Given the description of an element on the screen output the (x, y) to click on. 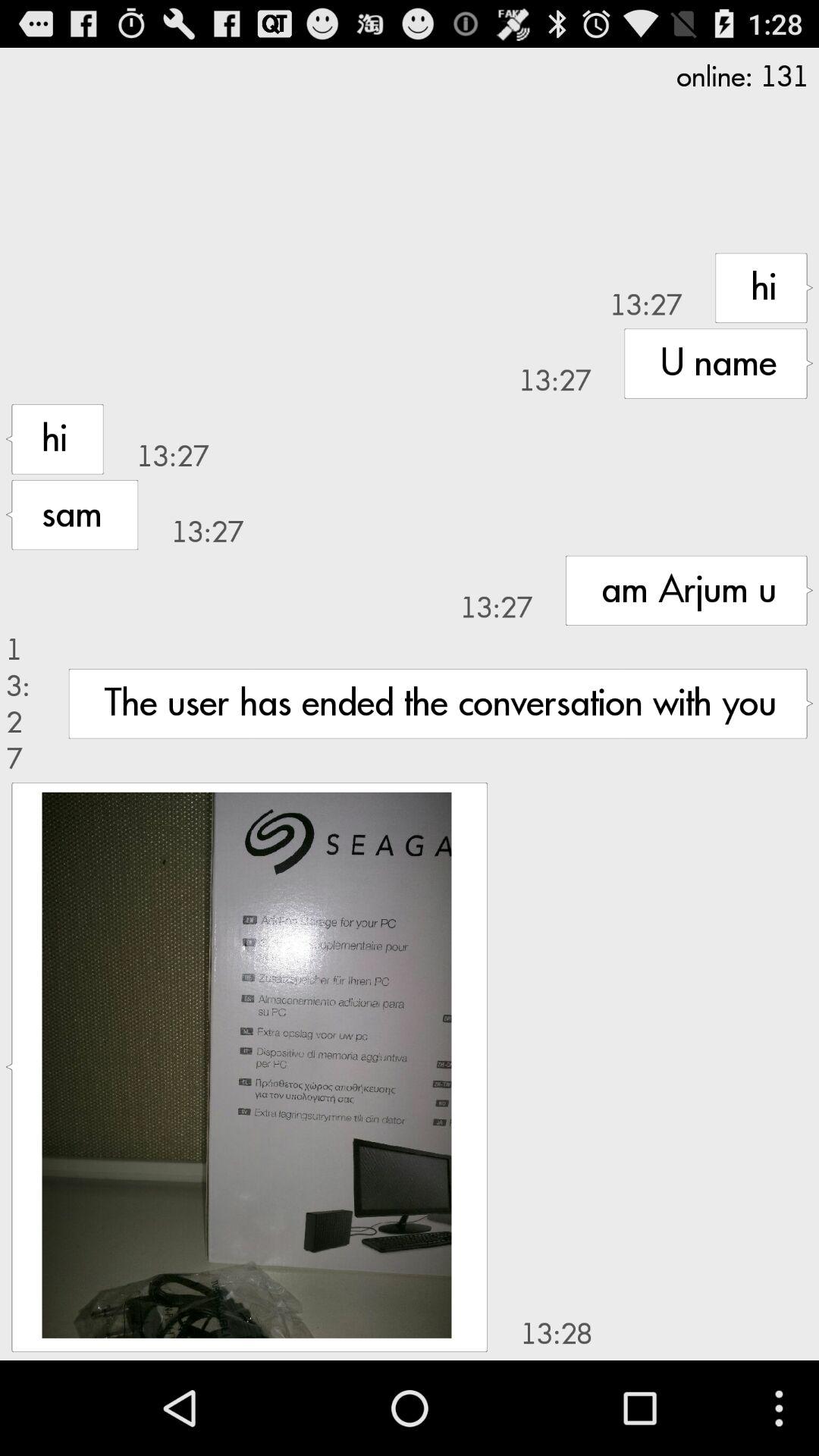
turn on the icon below 13:27 icon (246, 1065)
